Given the description of an element on the screen output the (x, y) to click on. 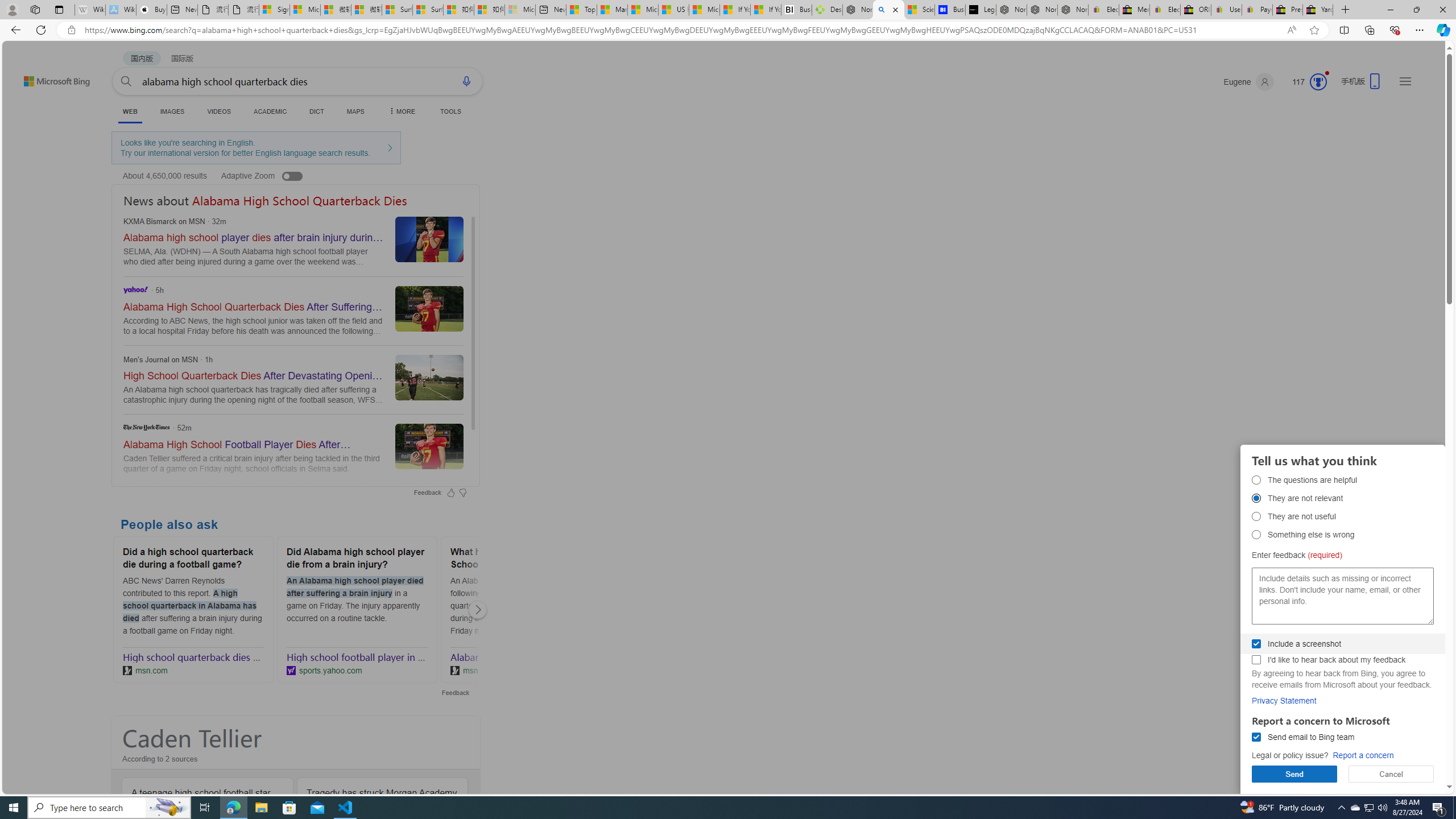
Send email to Bing team Send email to Bing team (1256, 737)
AutomationID: fbpgdgml (1256, 737)
Buy iPad - Apple (151, 9)
Descarga Driver Updater (826, 9)
AutomationID: fbpgdgcmchk (1256, 659)
Cancel (1391, 773)
